Given the description of an element on the screen output the (x, y) to click on. 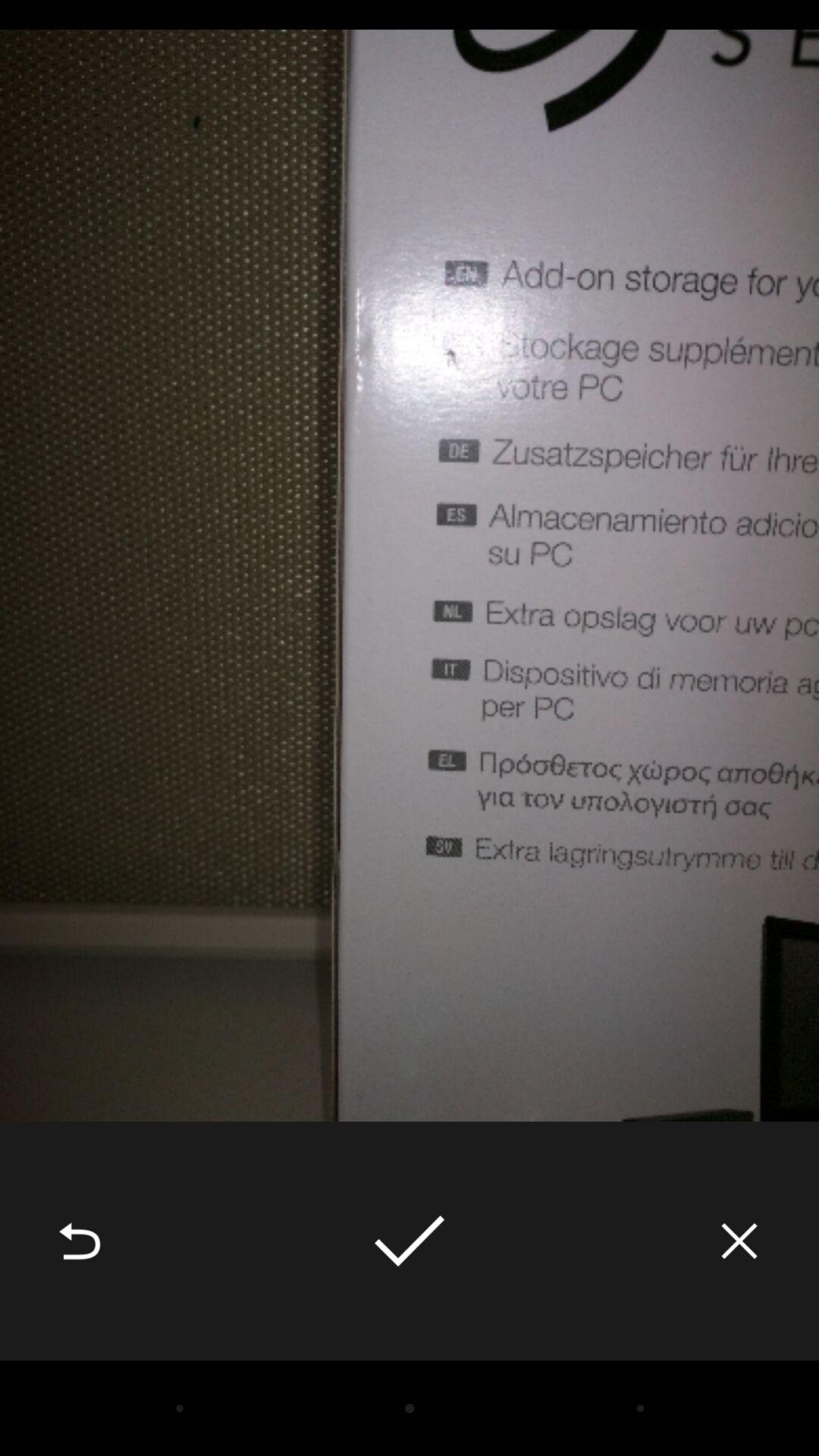
choose item at the bottom right corner (739, 1240)
